Given the description of an element on the screen output the (x, y) to click on. 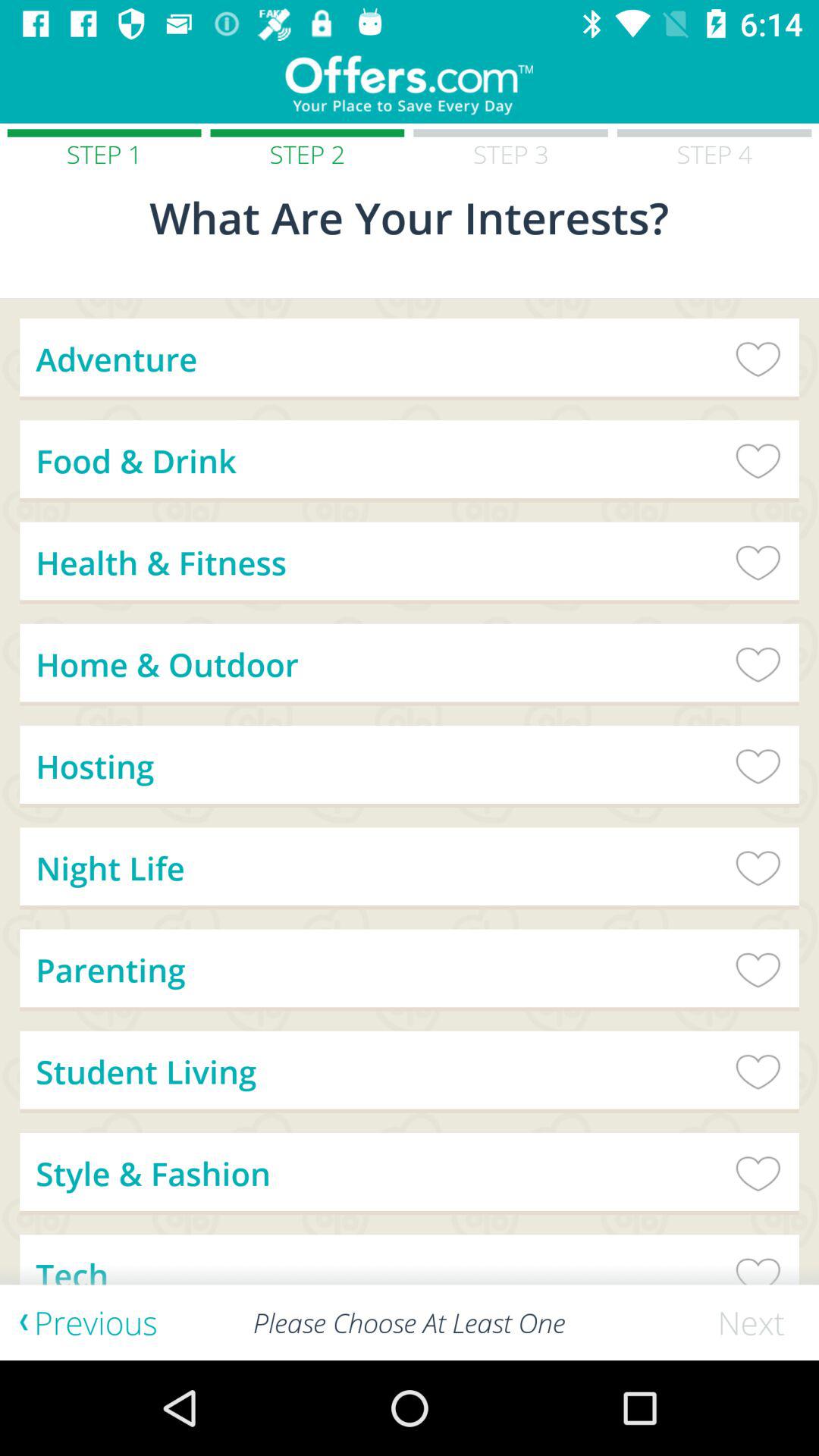
tap the icon below the tech (758, 1322)
